Given the description of an element on the screen output the (x, y) to click on. 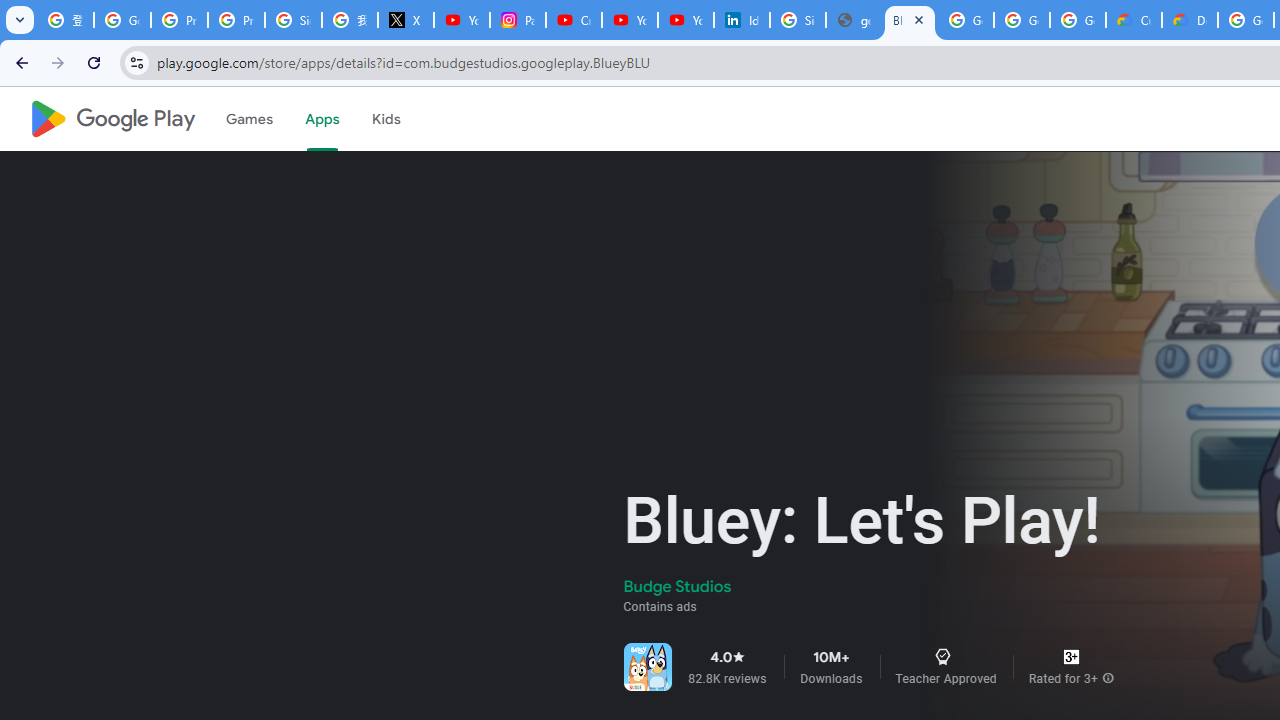
Content rating (1071, 656)
